Given the description of an element on the screen output the (x, y) to click on. 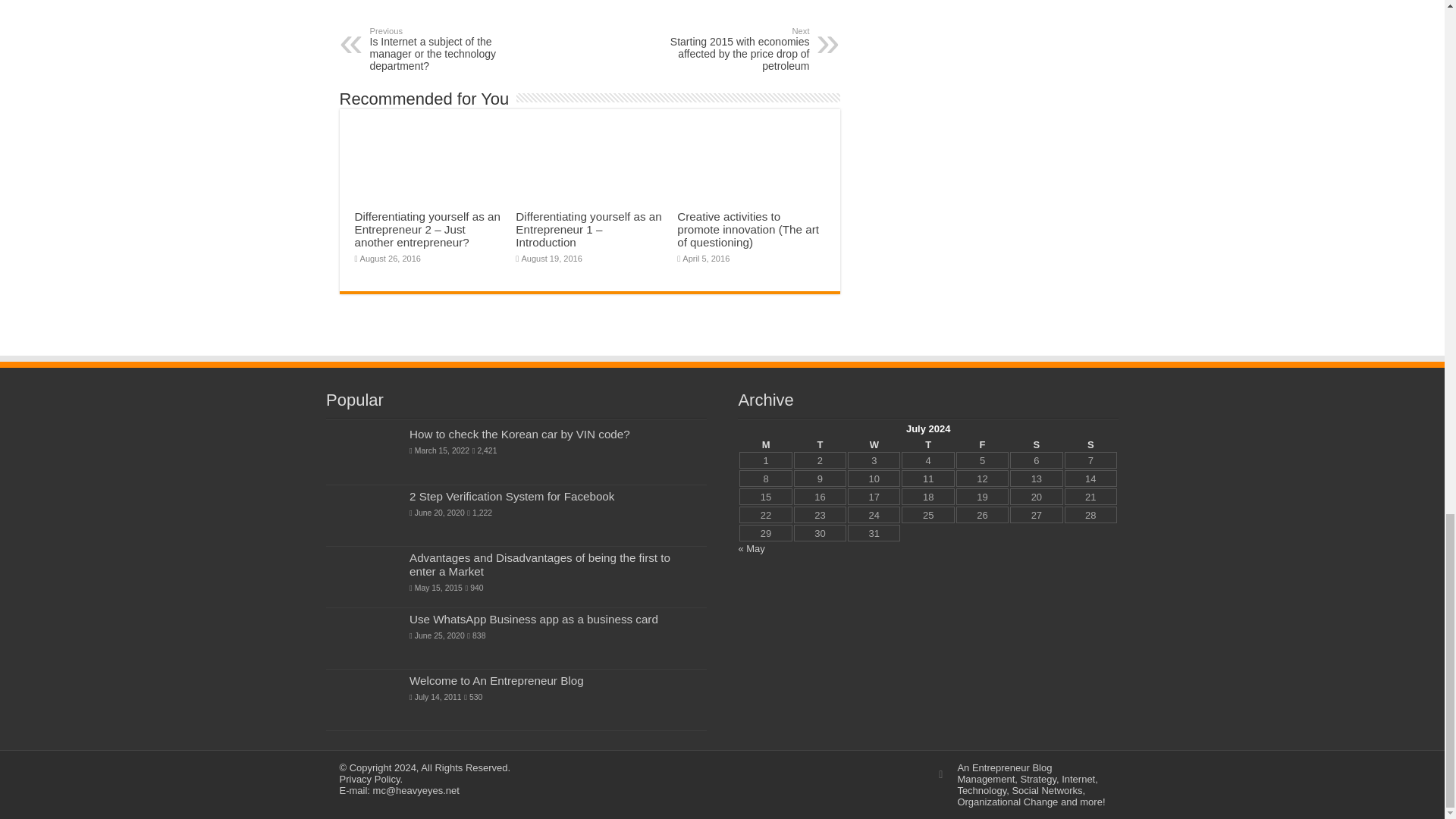
Wednesday (873, 444)
Tuesday (819, 444)
Monday (765, 444)
